Given the description of an element on the screen output the (x, y) to click on. 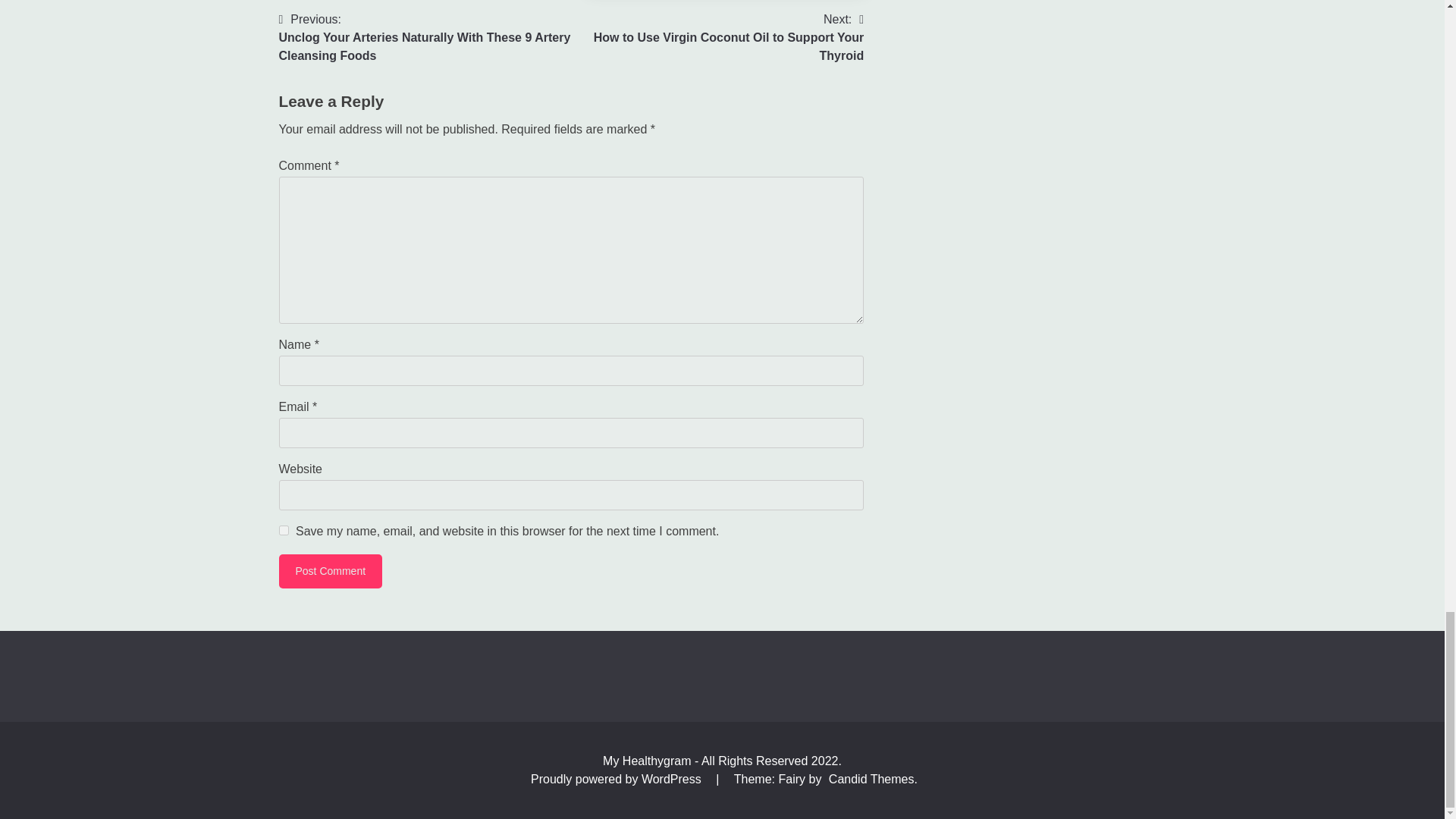
yes (716, 37)
Post Comment (283, 530)
Post Comment (330, 571)
